Given the description of an element on the screen output the (x, y) to click on. 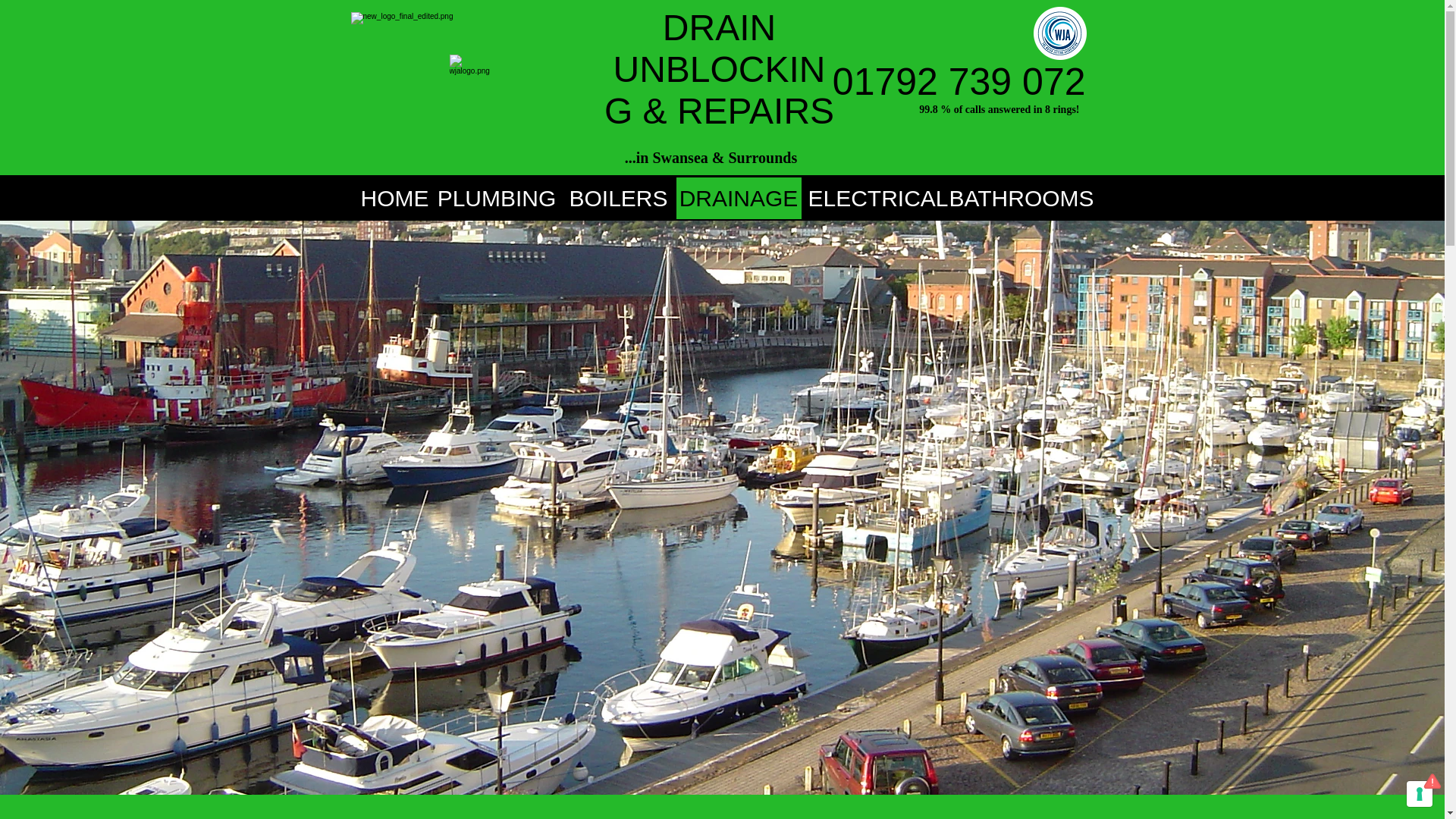
PLUMBING (496, 198)
ELECTRICAL (877, 198)
01792 739 072 (959, 81)
BOILERS (617, 198)
HOME (394, 198)
DRAINAGE (739, 198)
BATHROOMS (1021, 198)
